Given the description of an element on the screen output the (x, y) to click on. 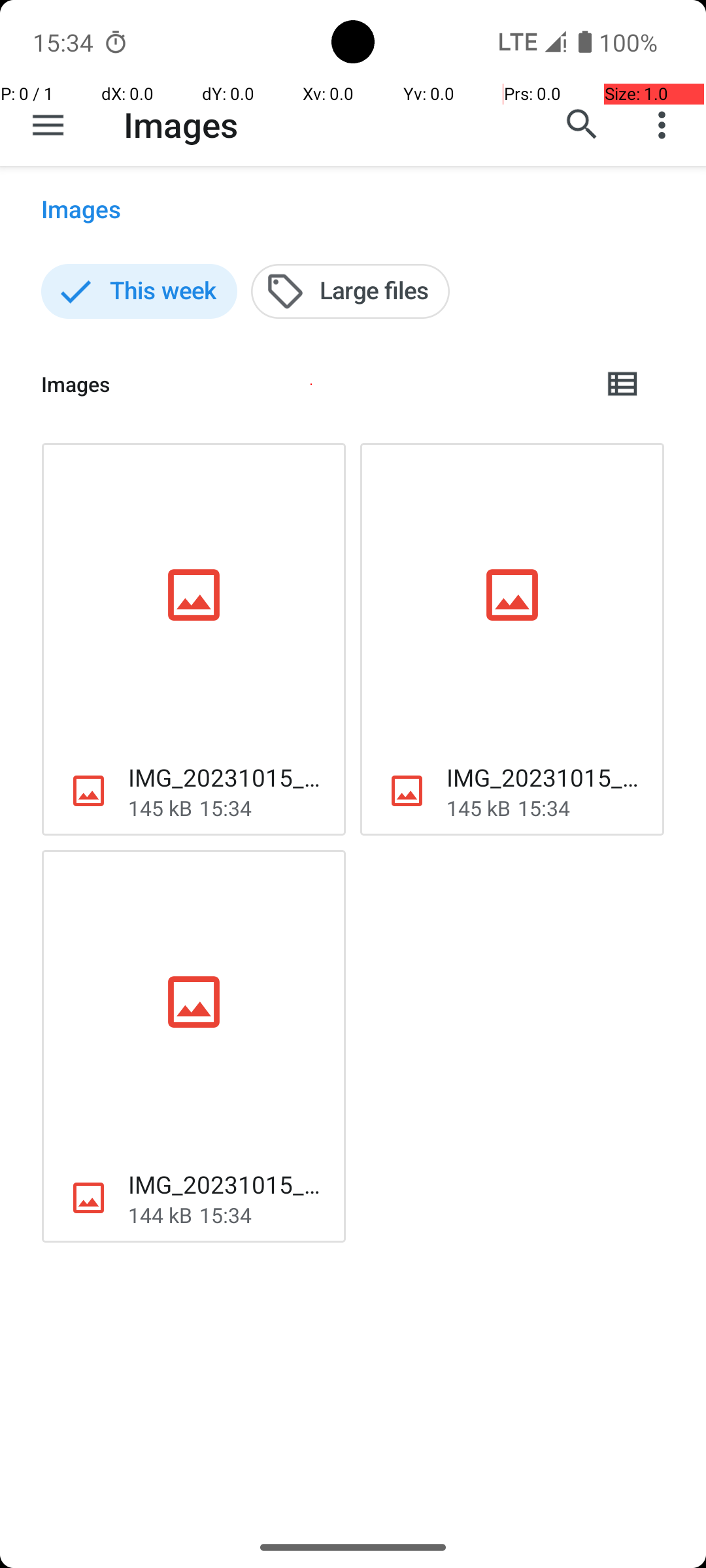
IMG_20231015_153457.jpg Element type: android.widget.TextView (226, 776)
145 kB Element type: android.widget.TextView (160, 807)
IMG_20231015_153427.jpg Element type: android.widget.TextView (544, 776)
IMG_20231015_153417.jpg Element type: android.widget.TextView (226, 1183)
144 kB Element type: android.widget.TextView (160, 1214)
